Given the description of an element on the screen output the (x, y) to click on. 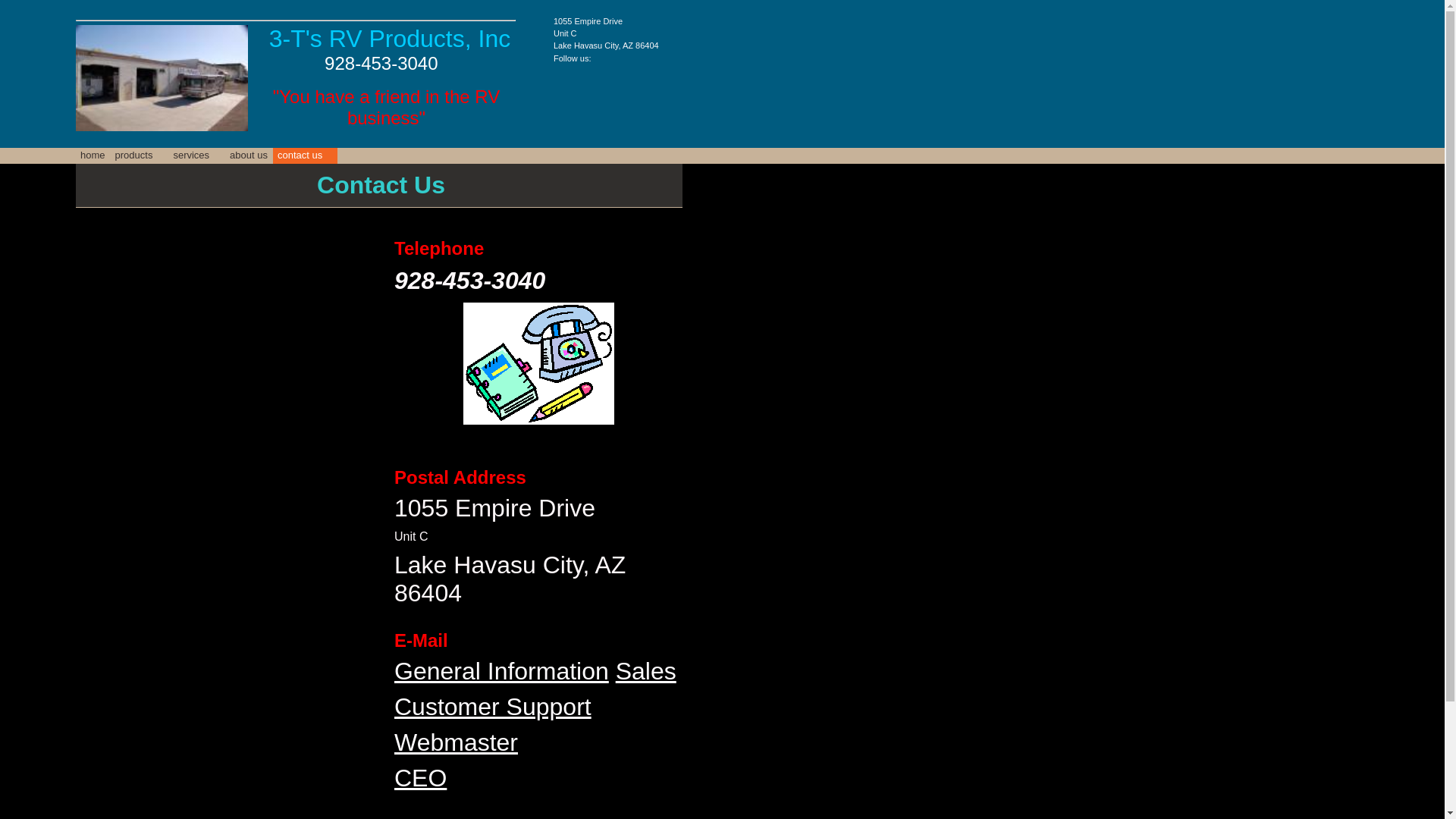
products Element type: text (139, 155)
contact us Element type: text (305, 155)
Customer Support Element type: text (492, 706)
services Element type: text (196, 155)
about us Element type: text (248, 155)
General Information Sales Element type: text (535, 670)
home Element type: text (92, 155)
Webmaster Element type: text (455, 742)
CEO Element type: text (420, 777)
